Given the description of an element on the screen output the (x, y) to click on. 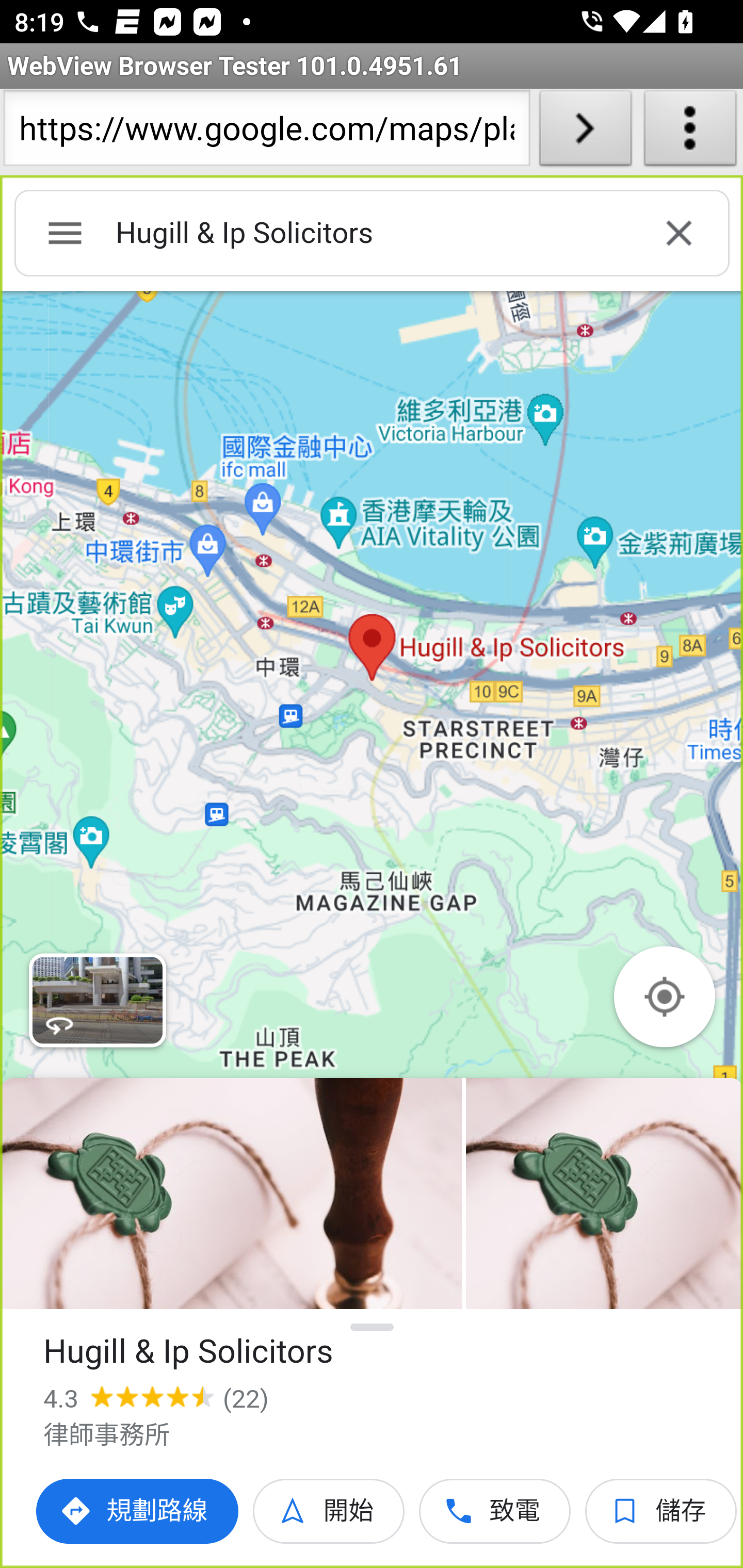
Load URL (585, 132)
About WebView (690, 132)
第 1 張相片 (共 10 張) (231, 1193)
第 2 張相片 (共 10 張) (604, 1193)
顯示詳細資料 (372, 1327)
前往Hugill & Ip Solicitors的路線 (137, 1511)
開始 (329, 1511)
致電「Hugill & Ip Solicitors」  致電 (495, 1511)
將「Hugill & Ip Solicitors」儲存至清單中 (661, 1511)
